Given the description of an element on the screen output the (x, y) to click on. 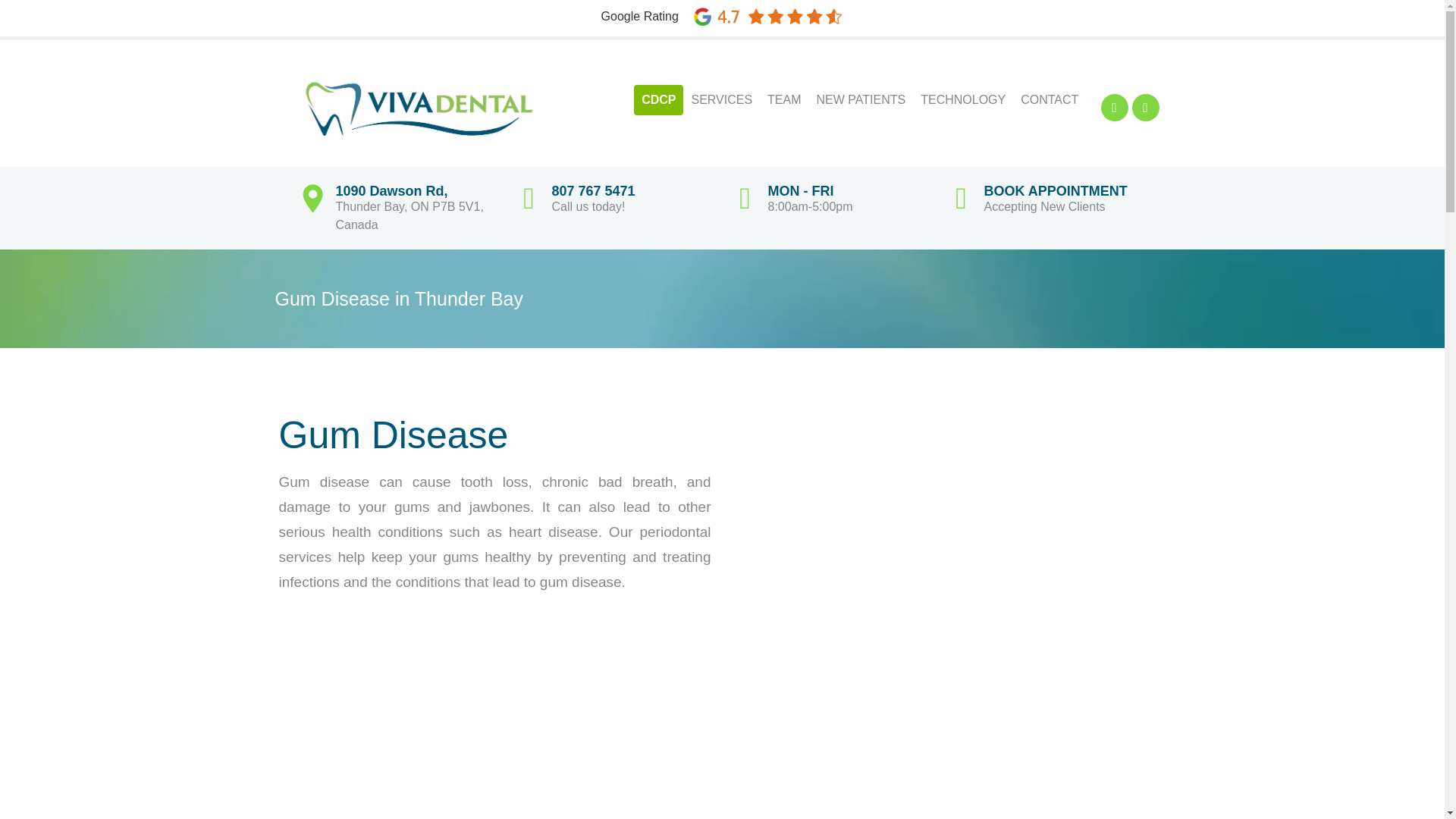
CONTACT (1049, 100)
TEAM (783, 100)
CDCP (658, 100)
NEW PATIENTS (860, 100)
SERVICES (721, 100)
TECHNOLOGY (963, 100)
